Given the description of an element on the screen output the (x, y) to click on. 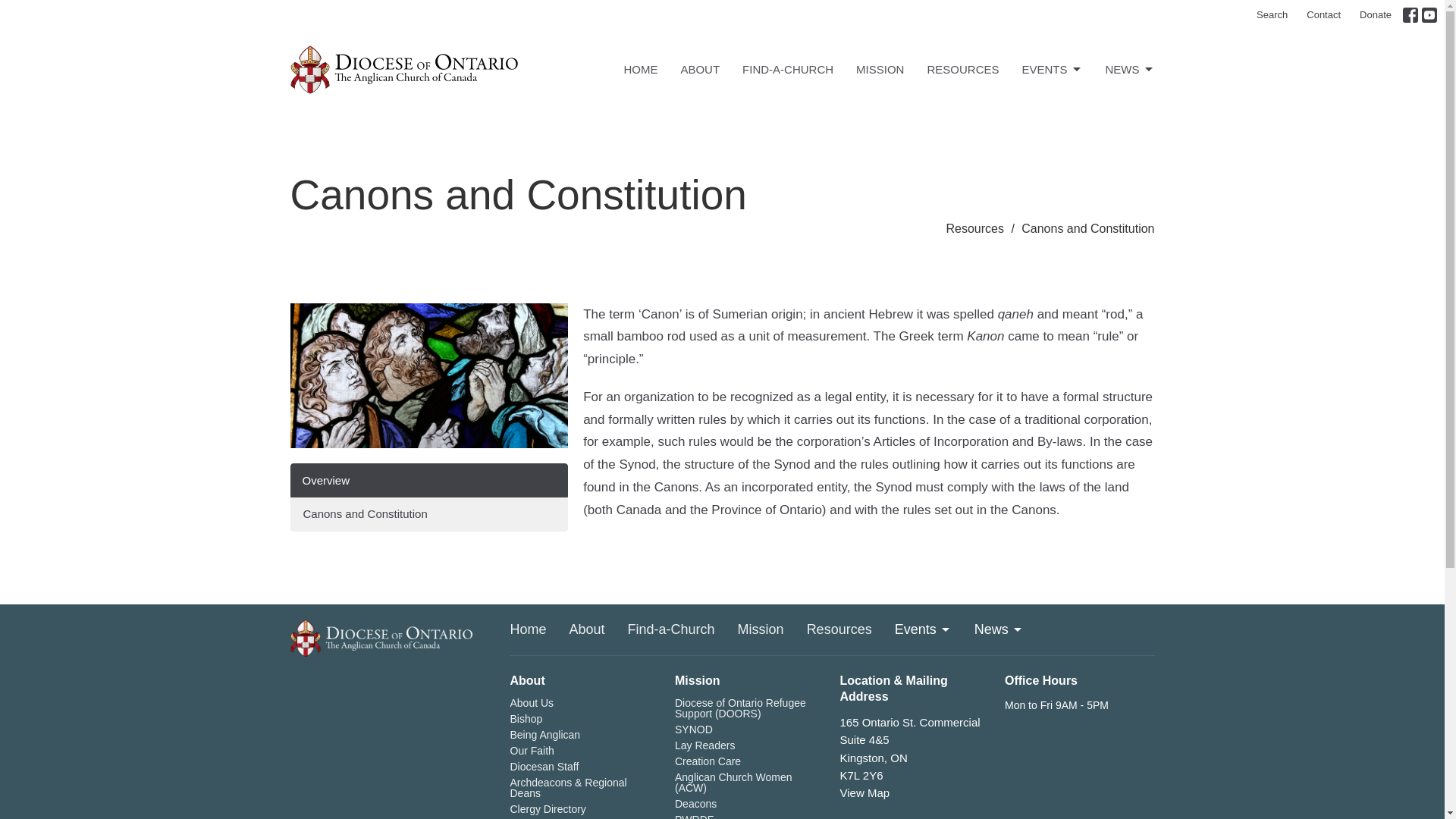
Our Faith (531, 750)
Events (923, 629)
MISSION (880, 68)
About (587, 629)
FIND-A-CHURCH (787, 68)
HOME (640, 68)
Canons and Constitution (428, 513)
About Us (531, 702)
Resources (839, 629)
News (998, 629)
Mission (761, 629)
Home (527, 629)
Donate (1375, 15)
Find-a-Church (670, 629)
Diocesan Staff (543, 766)
